Given the description of an element on the screen output the (x, y) to click on. 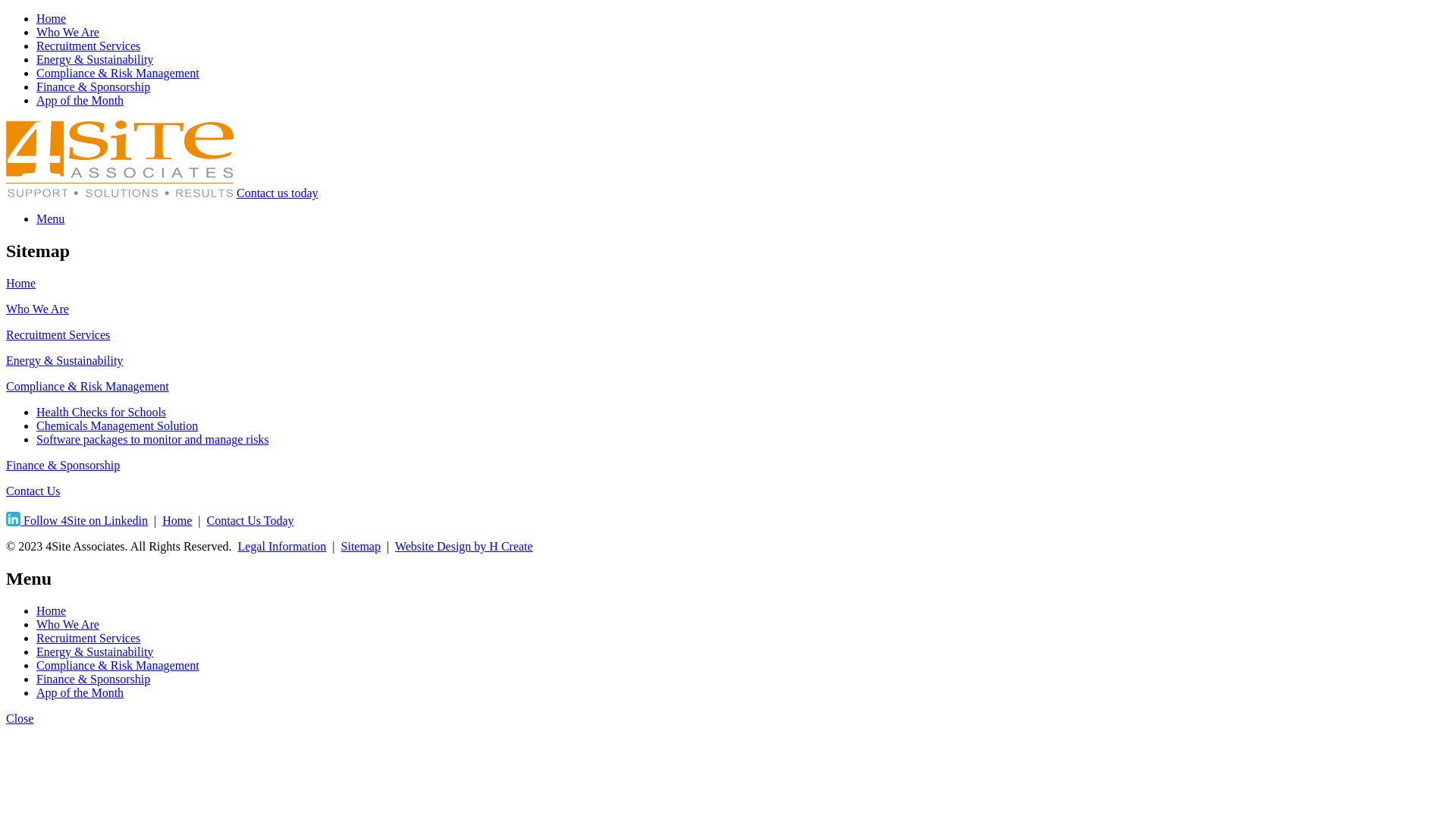
Who We Are Element type: text (67, 624)
Close Element type: text (19, 718)
Home Element type: text (20, 282)
Recruitment Services Element type: text (88, 637)
4Site Associates, Business Solutions for Schools Element type: hover (119, 192)
Energy & Sustainability Element type: text (94, 651)
Contact us today Element type: text (277, 192)
Follow 4Site on Linkedin Element type: text (76, 520)
Recruitment Services Element type: text (88, 45)
Recruitment Services Element type: text (57, 334)
Compliance & Risk Management Element type: text (117, 72)
Website Design by H Create Element type: text (464, 545)
Home Element type: text (50, 610)
Compliance & Risk Management Element type: text (117, 664)
Home Element type: text (176, 520)
Who We Are Element type: text (67, 31)
Menu Element type: text (50, 218)
Contact Us Element type: text (33, 490)
App of the Month Element type: text (79, 100)
Software packages to monitor and manage risks Element type: text (152, 439)
Sitemap Element type: text (360, 545)
Finance & Sponsorship Element type: text (93, 678)
Contact Us Today Element type: text (250, 520)
Health Checks for Schools Element type: text (101, 411)
Energy & Sustainability Element type: text (94, 59)
Legal Information Element type: text (281, 545)
Compliance & Risk Management Element type: text (87, 385)
Finance & Sponsorship Element type: text (62, 464)
Home Element type: text (50, 18)
Who We Are Element type: text (37, 308)
Chemicals Management Solution Element type: text (116, 425)
Finance & Sponsorship Element type: text (93, 86)
Energy & Sustainability Element type: text (64, 360)
App of the Month Element type: text (79, 692)
